Given the description of an element on the screen output the (x, y) to click on. 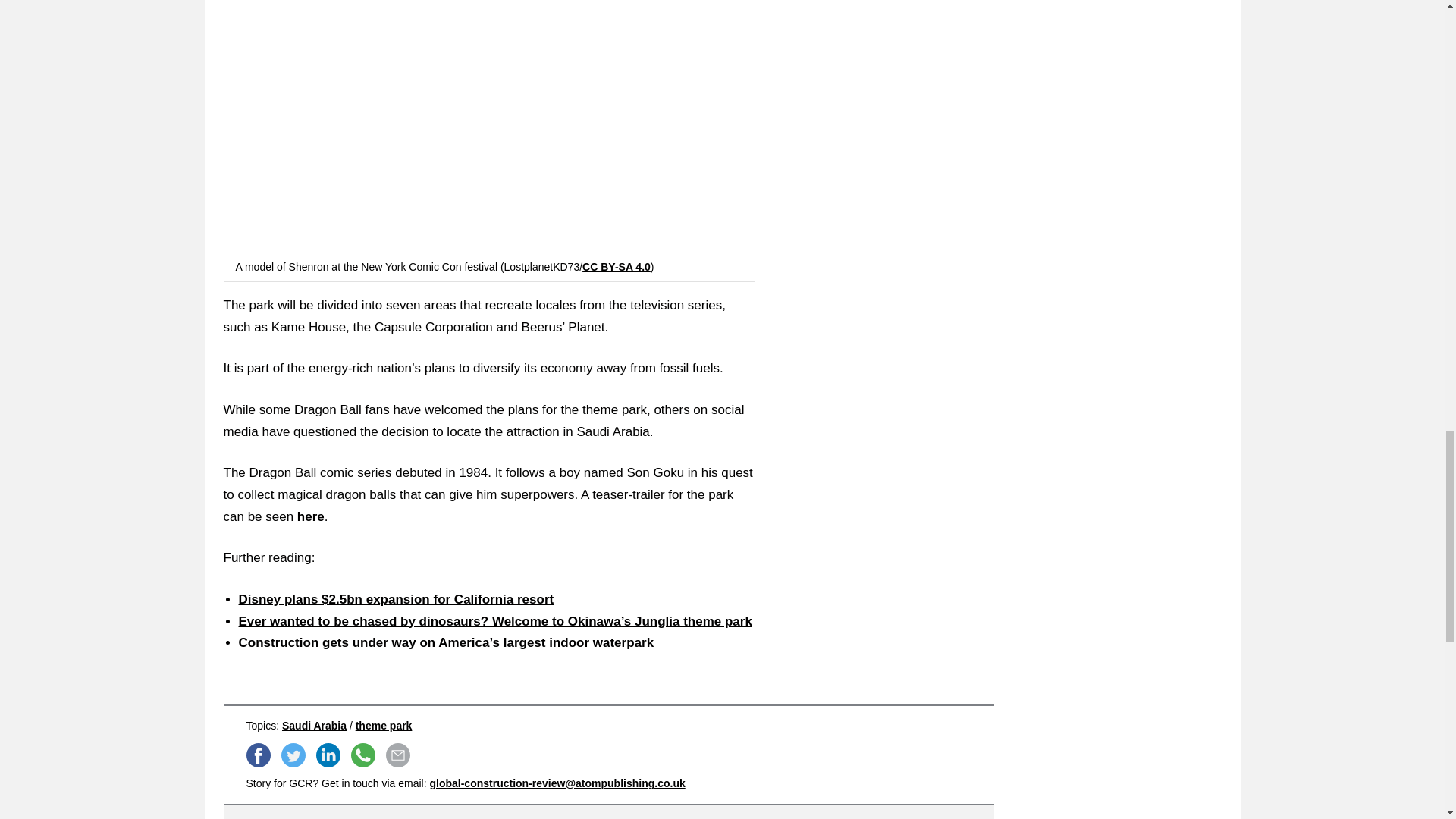
Send email (397, 754)
Share on Facebook (257, 754)
Share on WhatsApp (362, 754)
Share on LinkedIn (327, 754)
Tweet (292, 754)
